Given the description of an element on the screen output the (x, y) to click on. 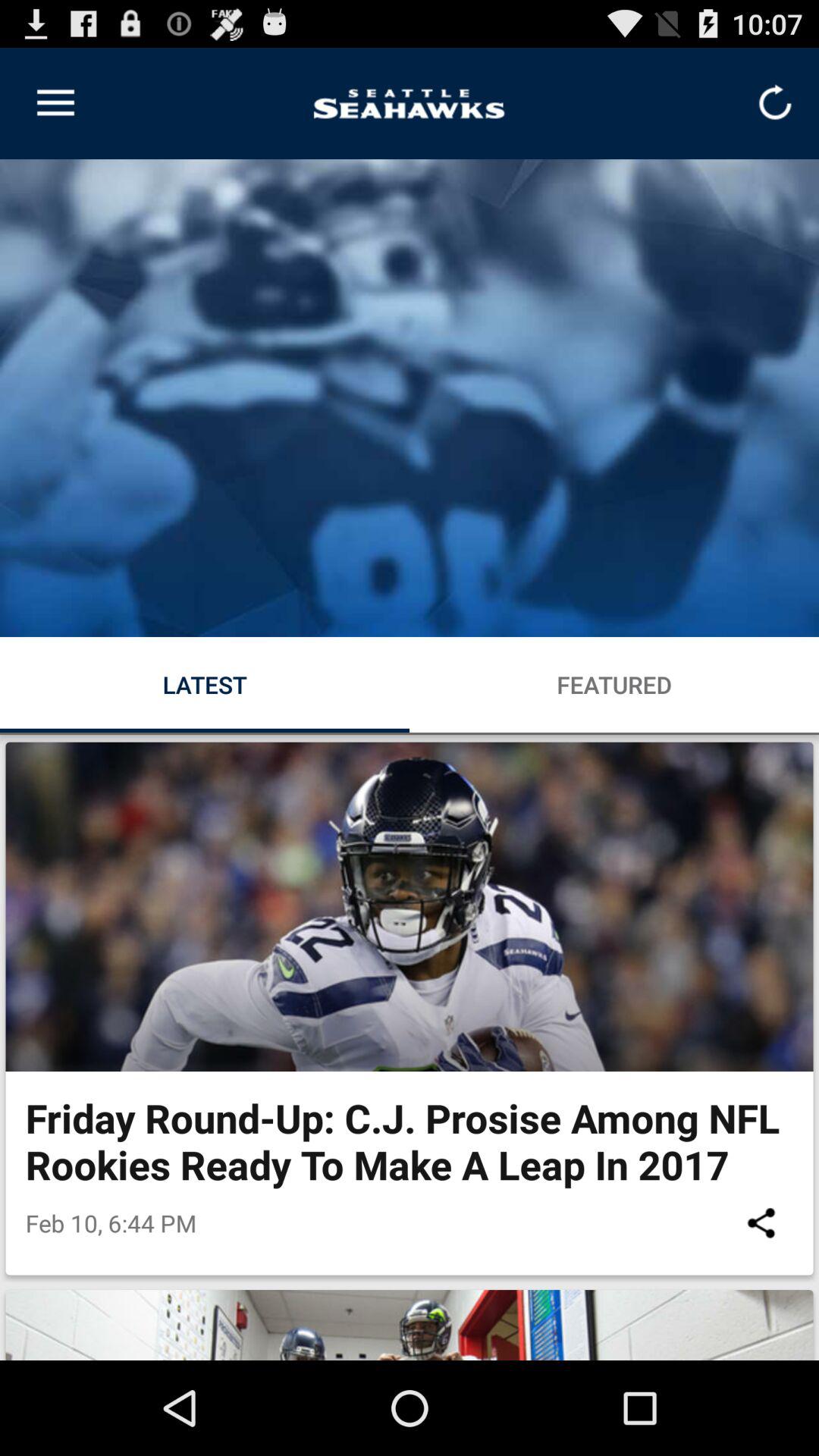
click item next to the feb 10 6 (761, 1222)
